Given the description of an element on the screen output the (x, y) to click on. 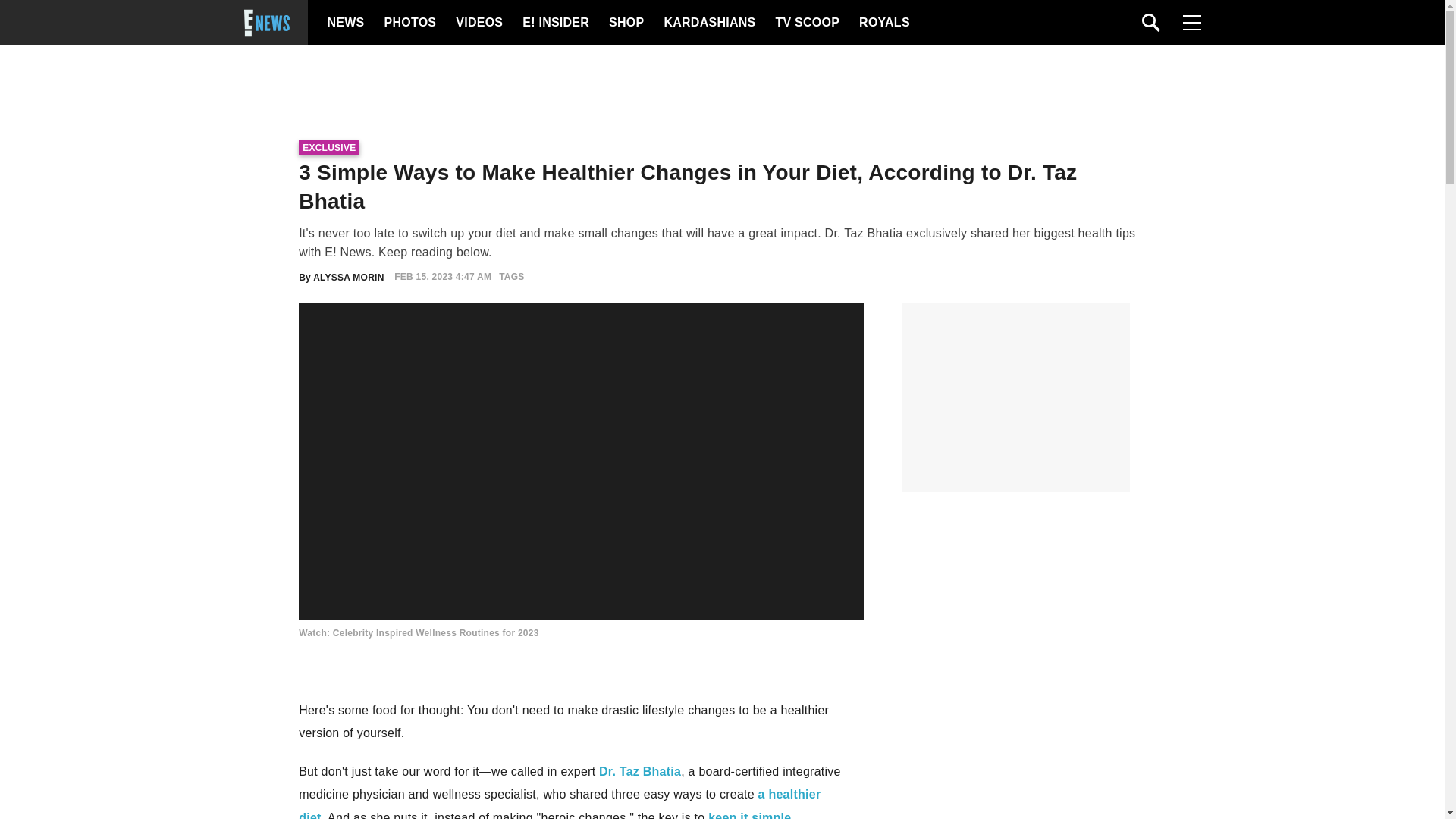
KARDASHIANS (708, 22)
VIDEOS (478, 22)
NEWS (345, 22)
ROYALS (883, 22)
SHOP (625, 22)
keep it simple (748, 815)
PHOTOS (408, 22)
E! INSIDER (555, 22)
a healthier diet (559, 803)
Dr. Taz Bhatia (639, 771)
